Given the description of an element on the screen output the (x, y) to click on. 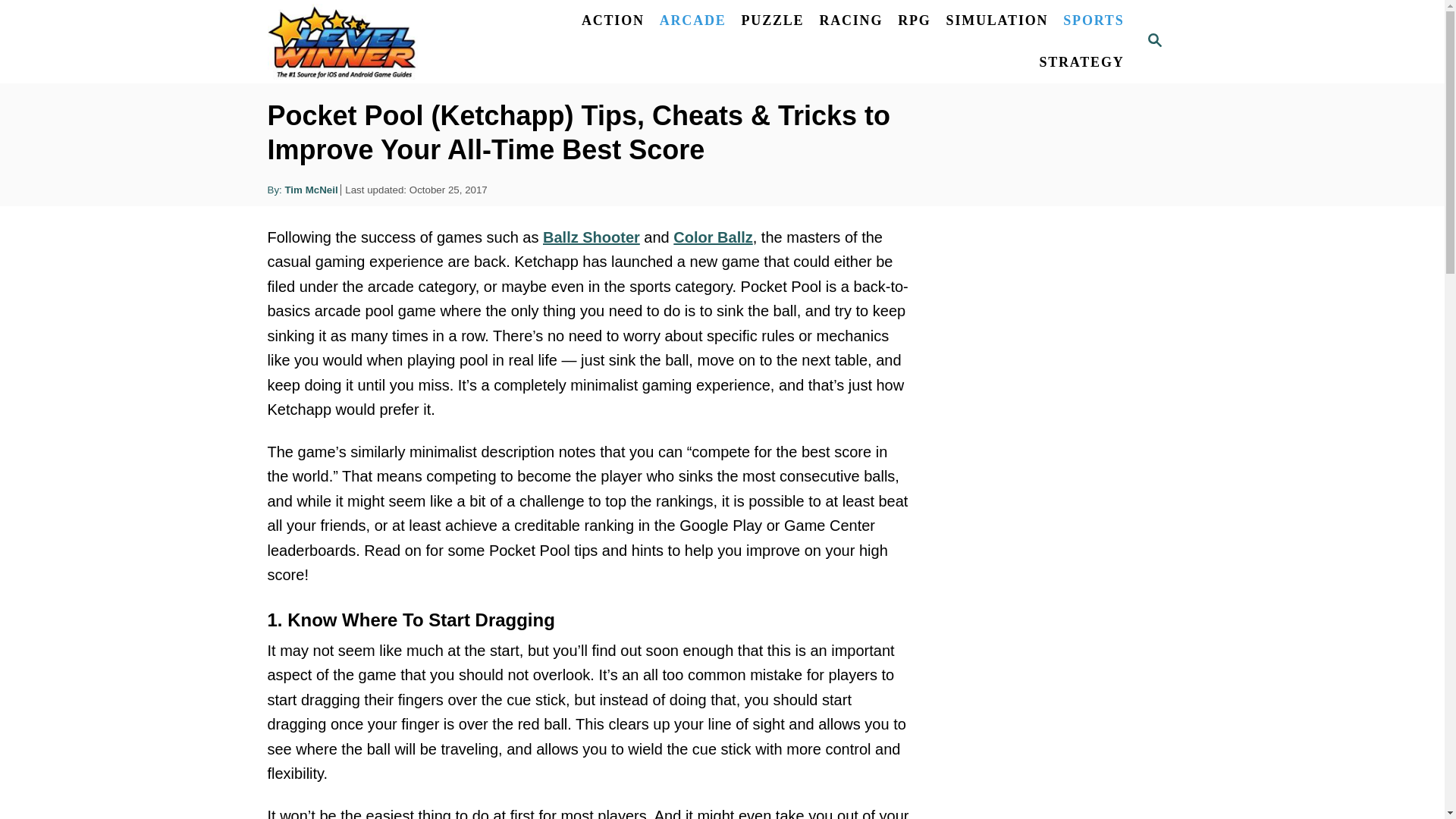
ARCADE (692, 20)
Tim McNeil (310, 189)
RACING (849, 20)
PUZZLE (772, 20)
STRATEGY (1080, 61)
Color Ballz (712, 237)
SPORTS (1093, 20)
SIMULATION (998, 20)
RPG (913, 20)
Ballz Shooter (591, 237)
SEARCH (1153, 40)
Level Winner (377, 41)
ACTION (612, 20)
